Given the description of an element on the screen output the (x, y) to click on. 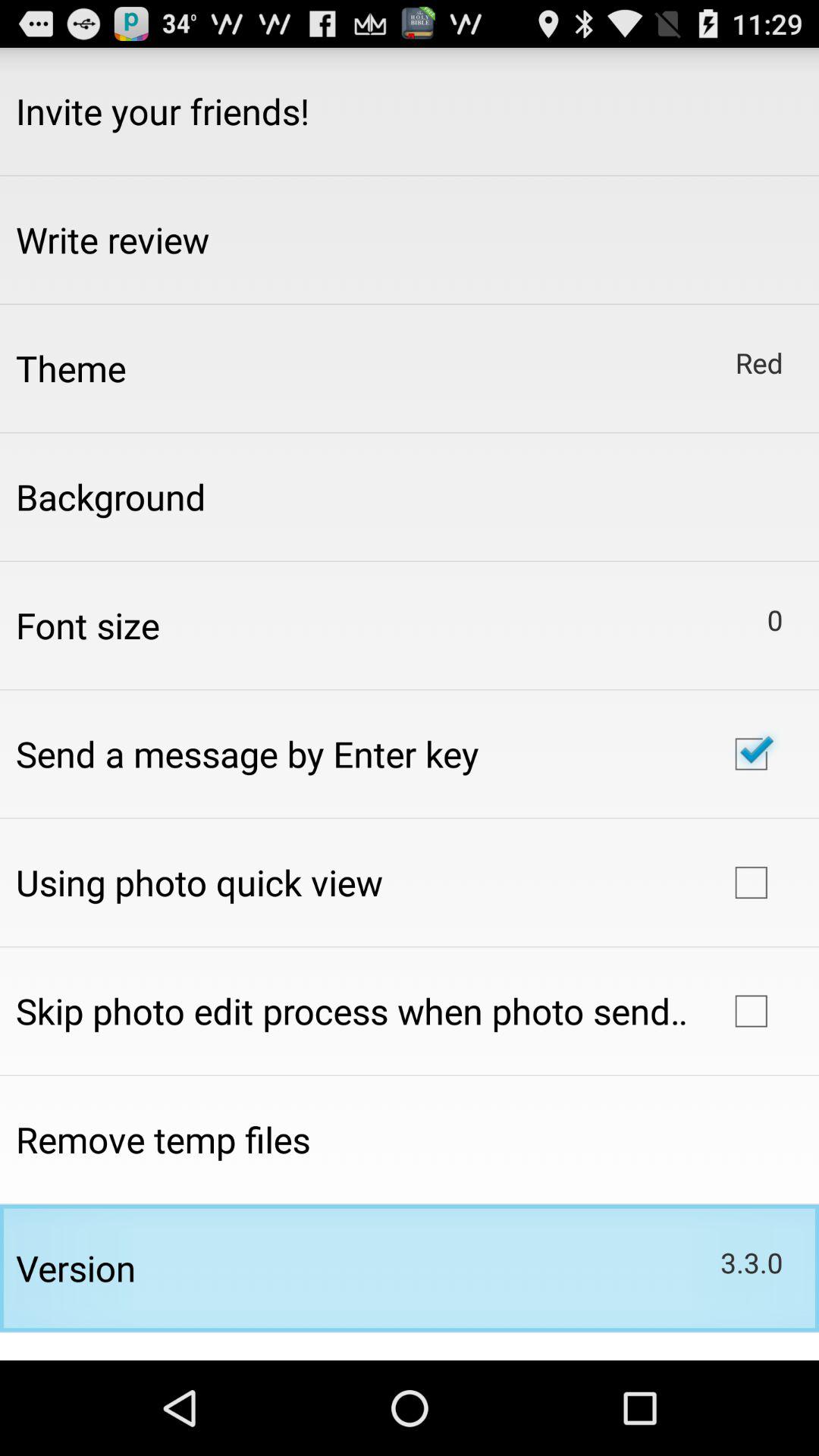
press the app above version (162, 1139)
